Given the description of an element on the screen output the (x, y) to click on. 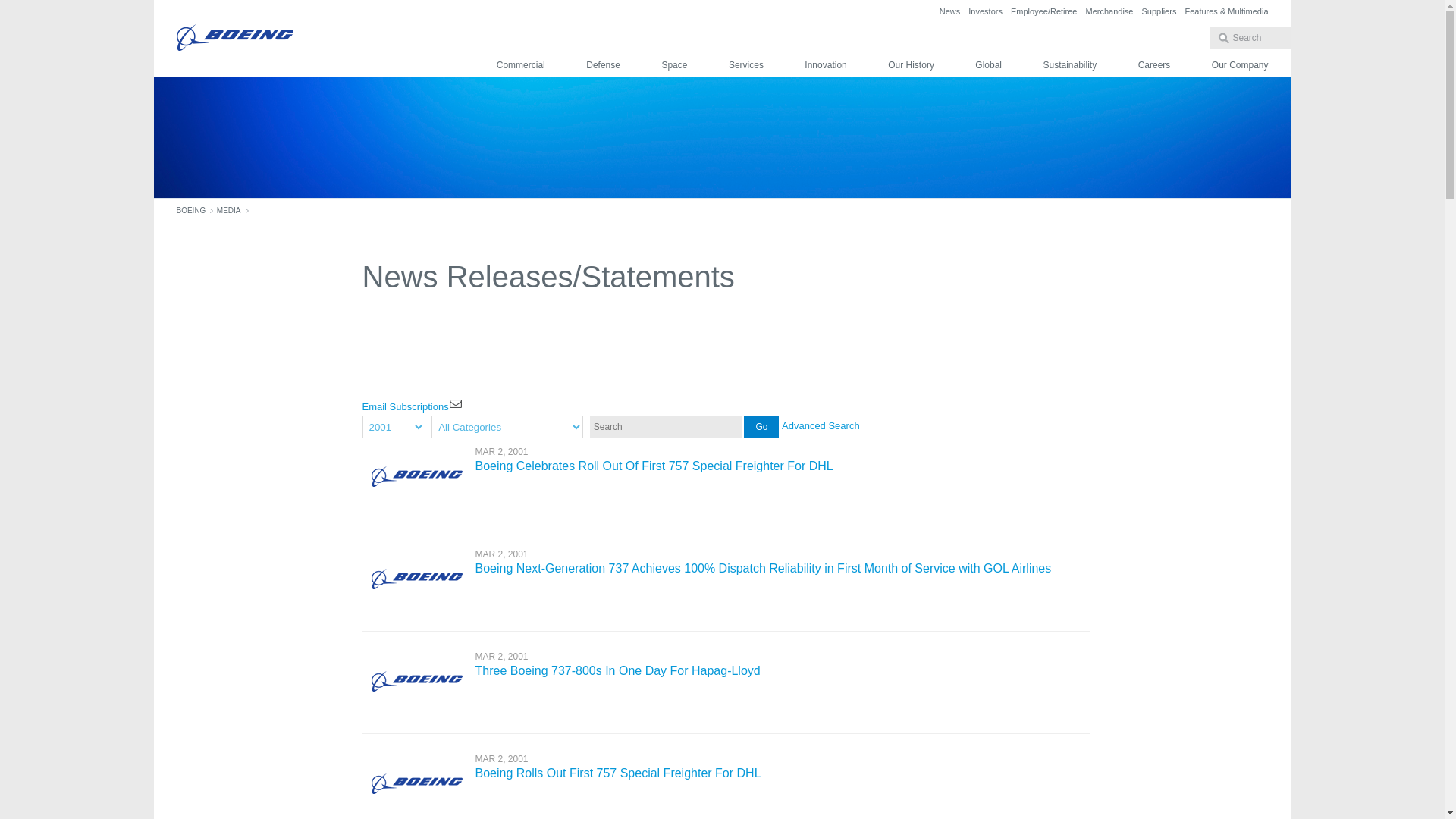
Boeing (234, 37)
Investors (985, 10)
Merchandise (1108, 10)
Suppliers (1158, 10)
Search (761, 427)
News (949, 10)
Email Subscriptions (455, 403)
Commercial (520, 65)
Defense (603, 65)
